Given the description of an element on the screen output the (x, y) to click on. 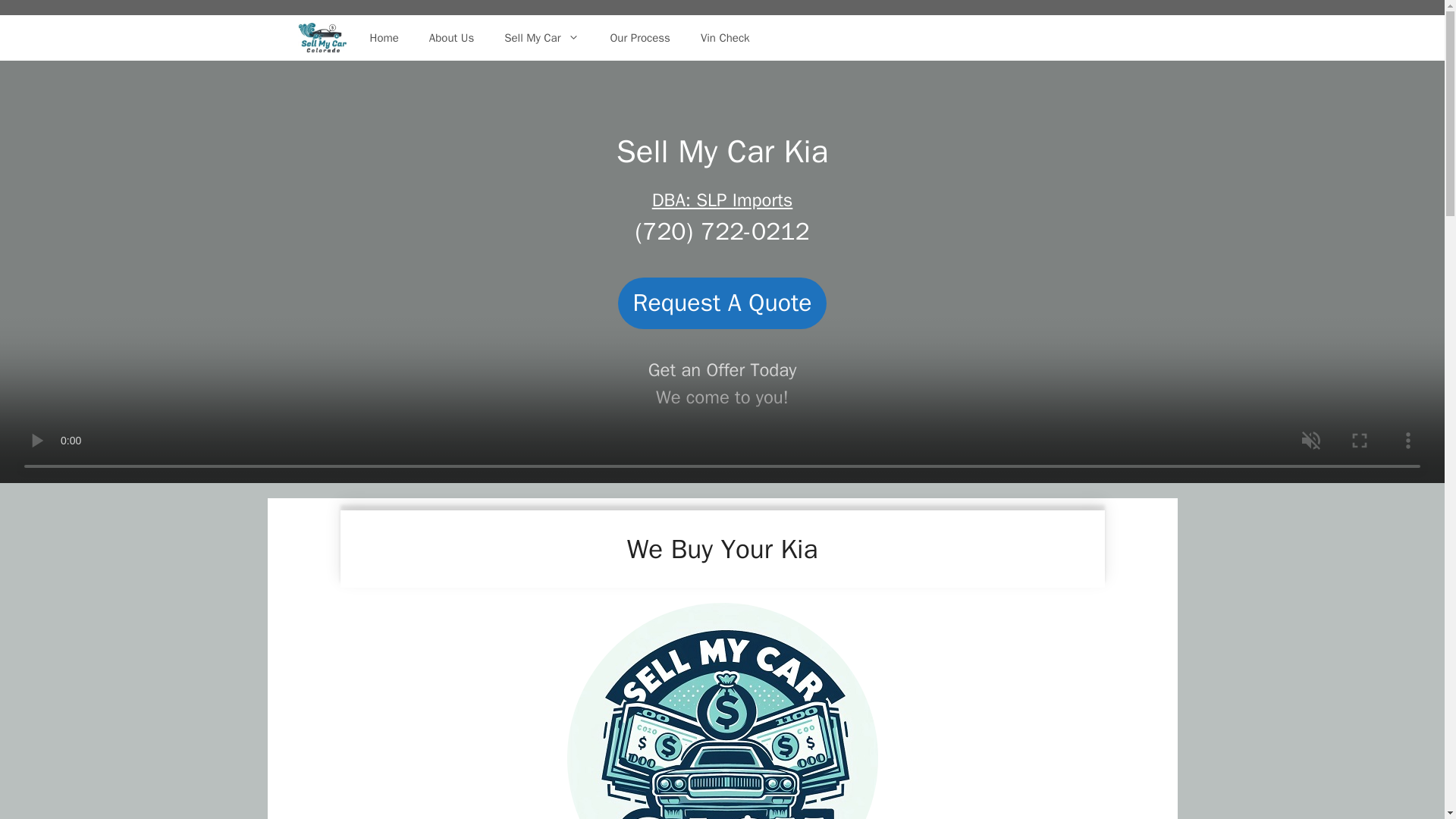
Our Process (639, 37)
We Buy Cars (321, 37)
Vin Check (725, 37)
Sell My Car (541, 37)
Home (384, 37)
Request A Quote (722, 303)
About Us (451, 37)
